Given the description of an element on the screen output the (x, y) to click on. 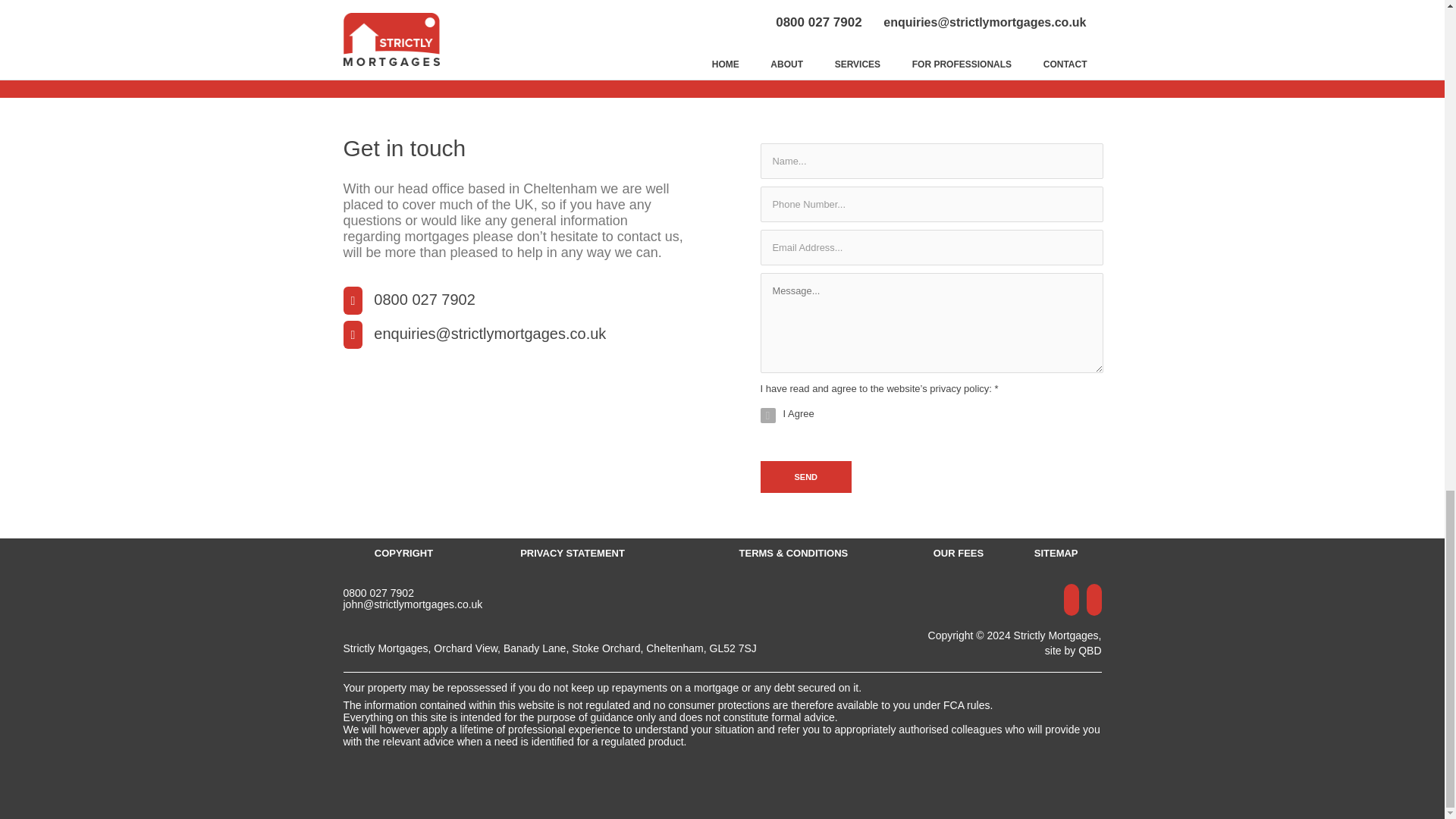
Privacy Statement (572, 553)
Send (805, 477)
site by Quick By Design (1073, 650)
Our Fees (957, 553)
Copyright (403, 553)
Sitemap (1056, 553)
